Given the description of an element on the screen output the (x, y) to click on. 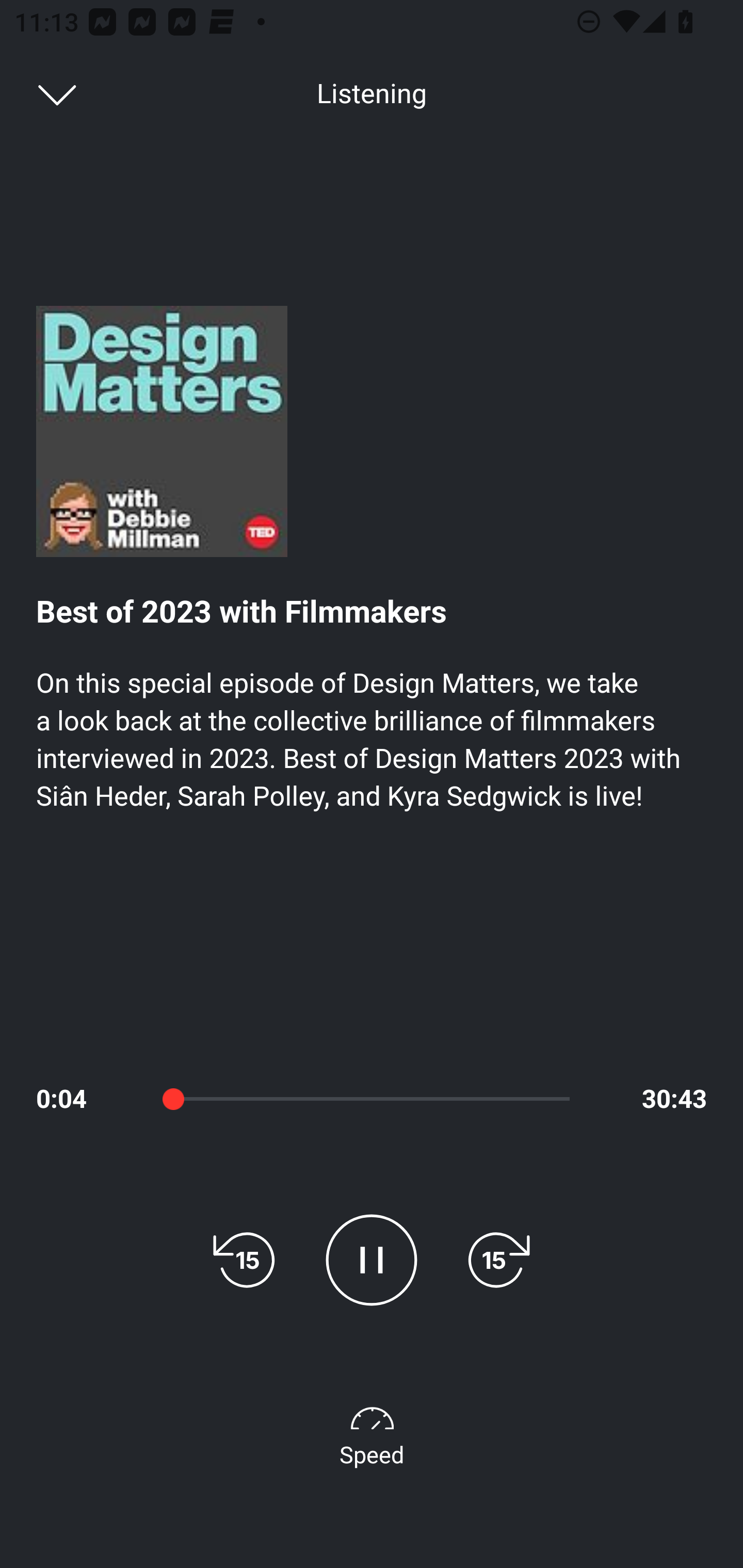
Listening (371, 93)
TED Podcasts, back (47, 92)
Roy Wood Jr. 41:59 . Dec 18, 2023 (371, 1052)
Speed (371, 1433)
